Given the description of an element on the screen output the (x, y) to click on. 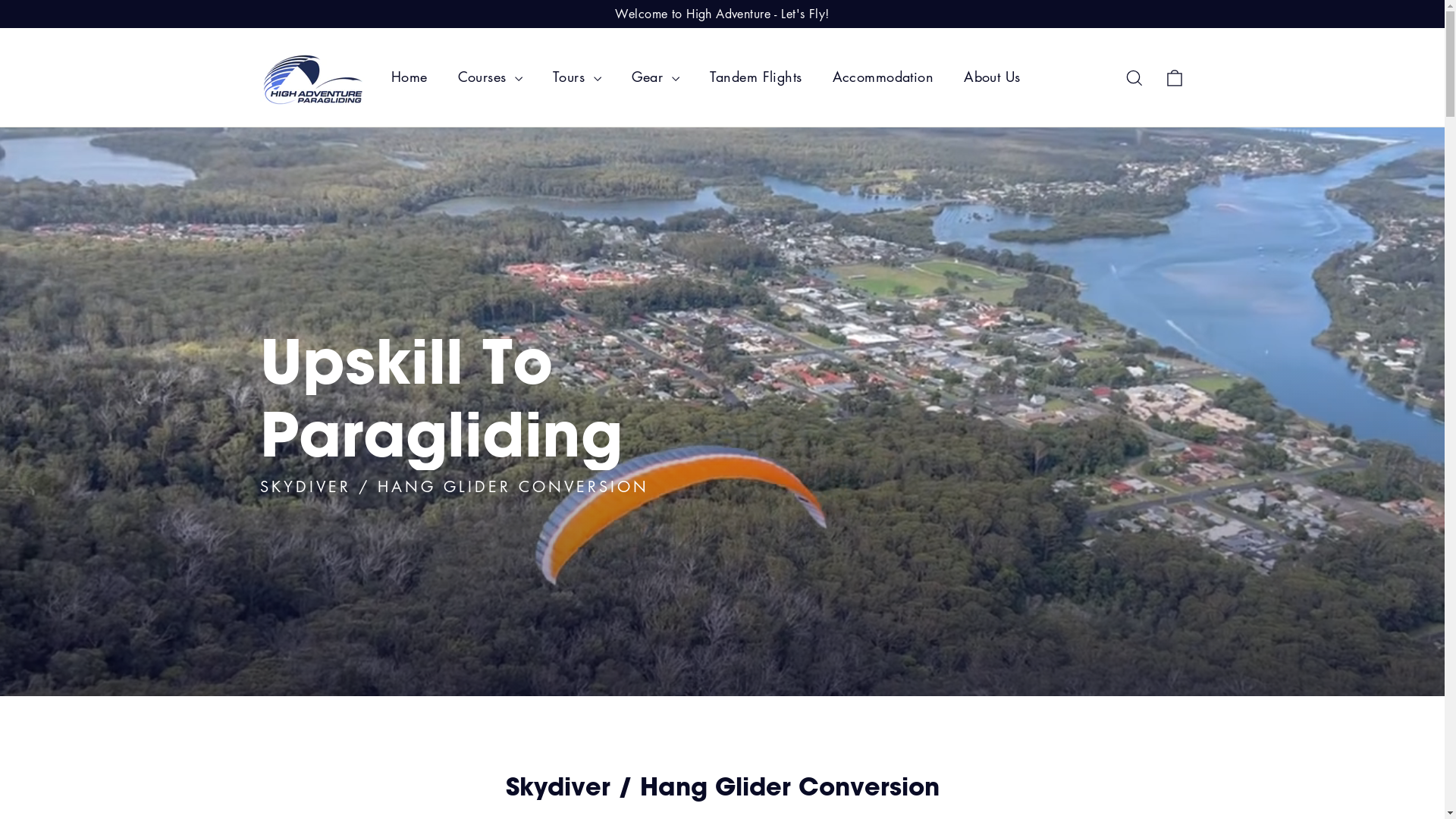
Welcome to High Adventure - Let's Fly! Element type: text (722, 14)
Tandem Flights Element type: text (755, 76)
icon-search
Search Element type: text (1134, 76)
Accommodation Element type: text (883, 76)
Home Element type: text (409, 76)
icon-bag-minimal
Cart Element type: text (1173, 76)
About Us Element type: text (991, 76)
